Given the description of an element on the screen output the (x, y) to click on. 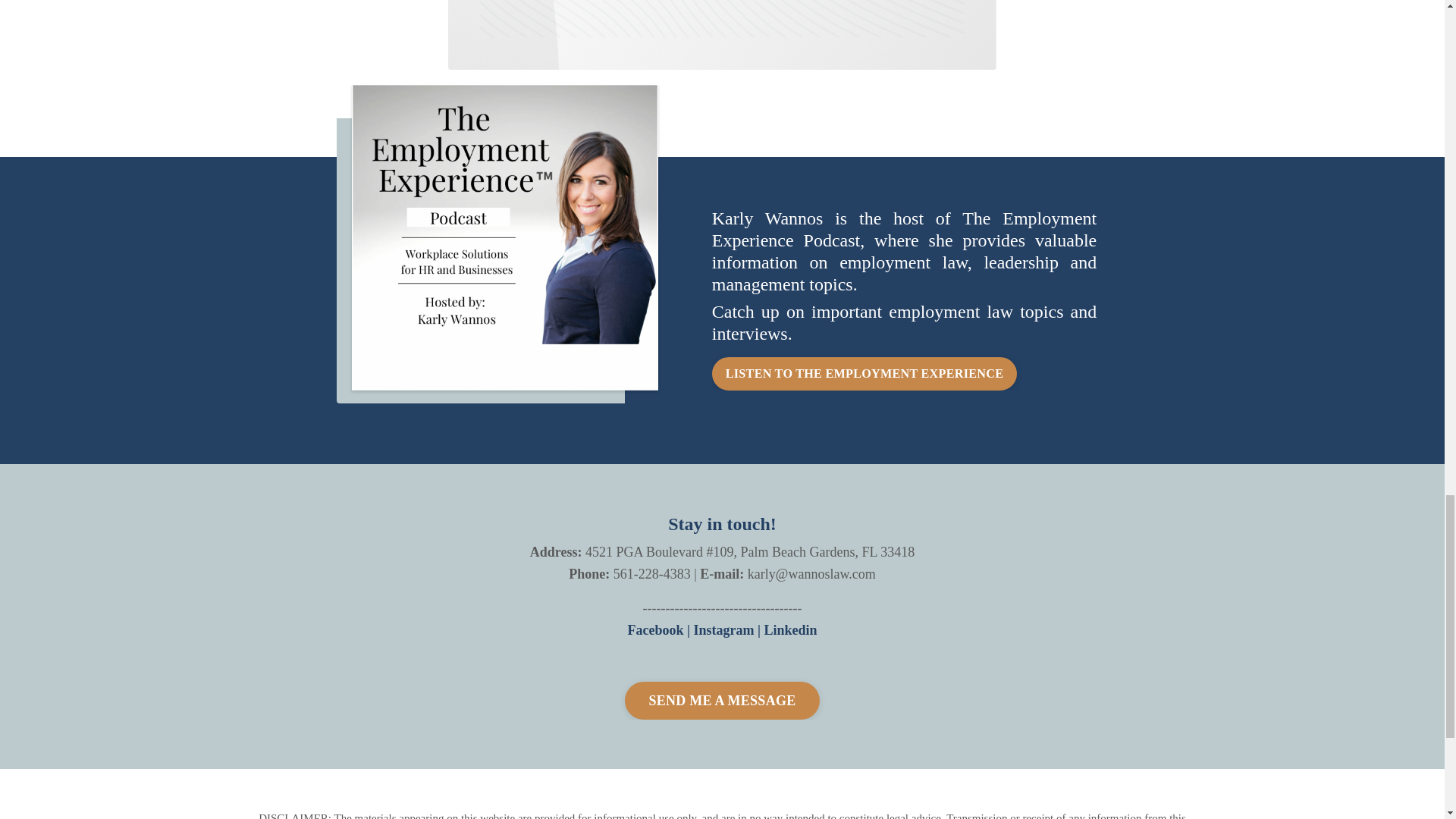
Instagram (723, 630)
SEND ME A MESSAGE (722, 700)
Facebook (655, 630)
LISTEN TO THE EMPLOYMENT EXPERIENCE (863, 373)
561-228-4383 (651, 573)
Linkedin (789, 630)
